Given the description of an element on the screen output the (x, y) to click on. 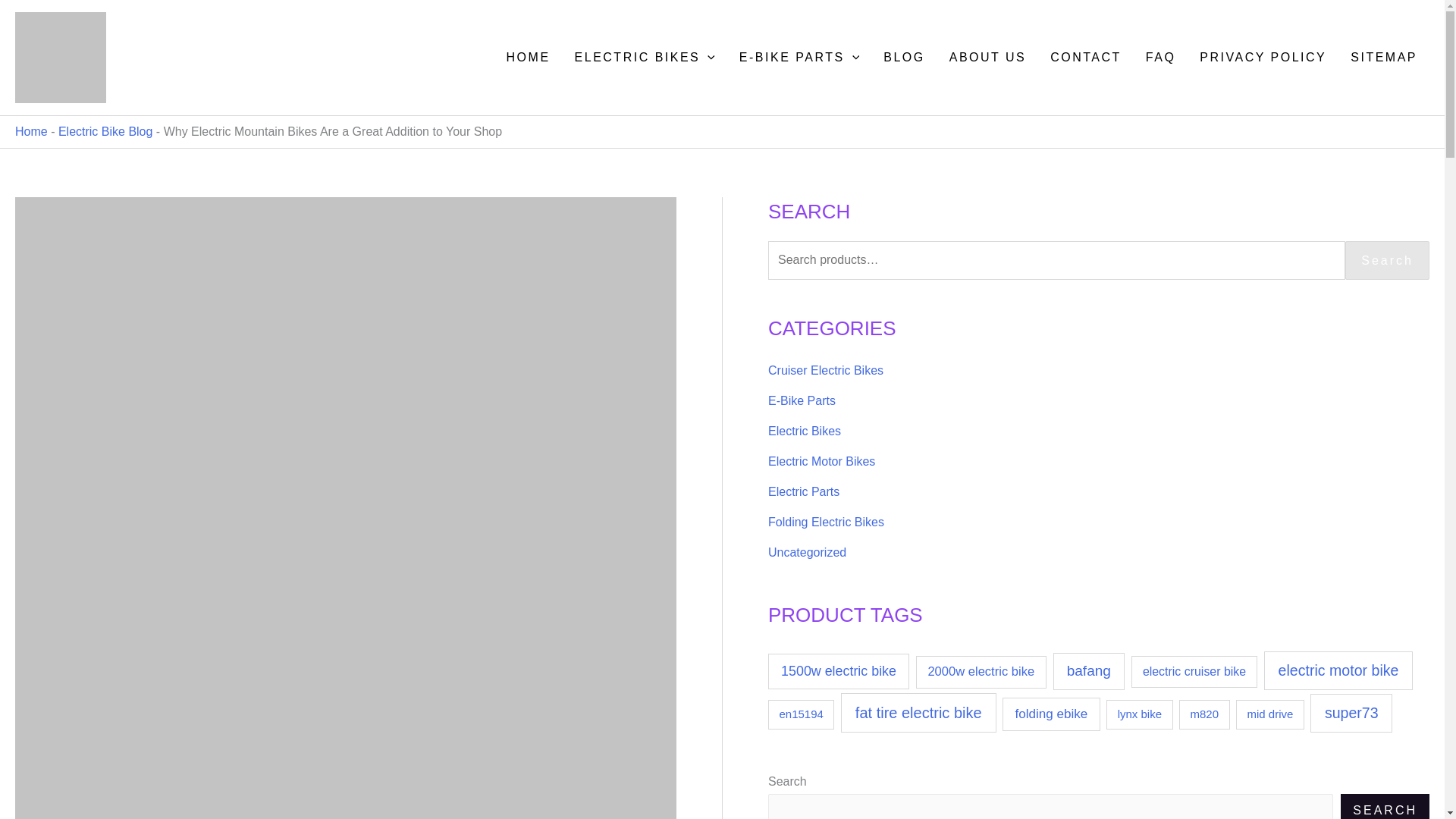
PRIVACY POLICY (1263, 57)
ABOUT US (988, 57)
E-BIKE PARTS (798, 57)
HOME (528, 57)
CONTACT (1086, 57)
SITEMAP (1383, 57)
ELECTRIC BIKES (644, 57)
